Given the description of an element on the screen output the (x, y) to click on. 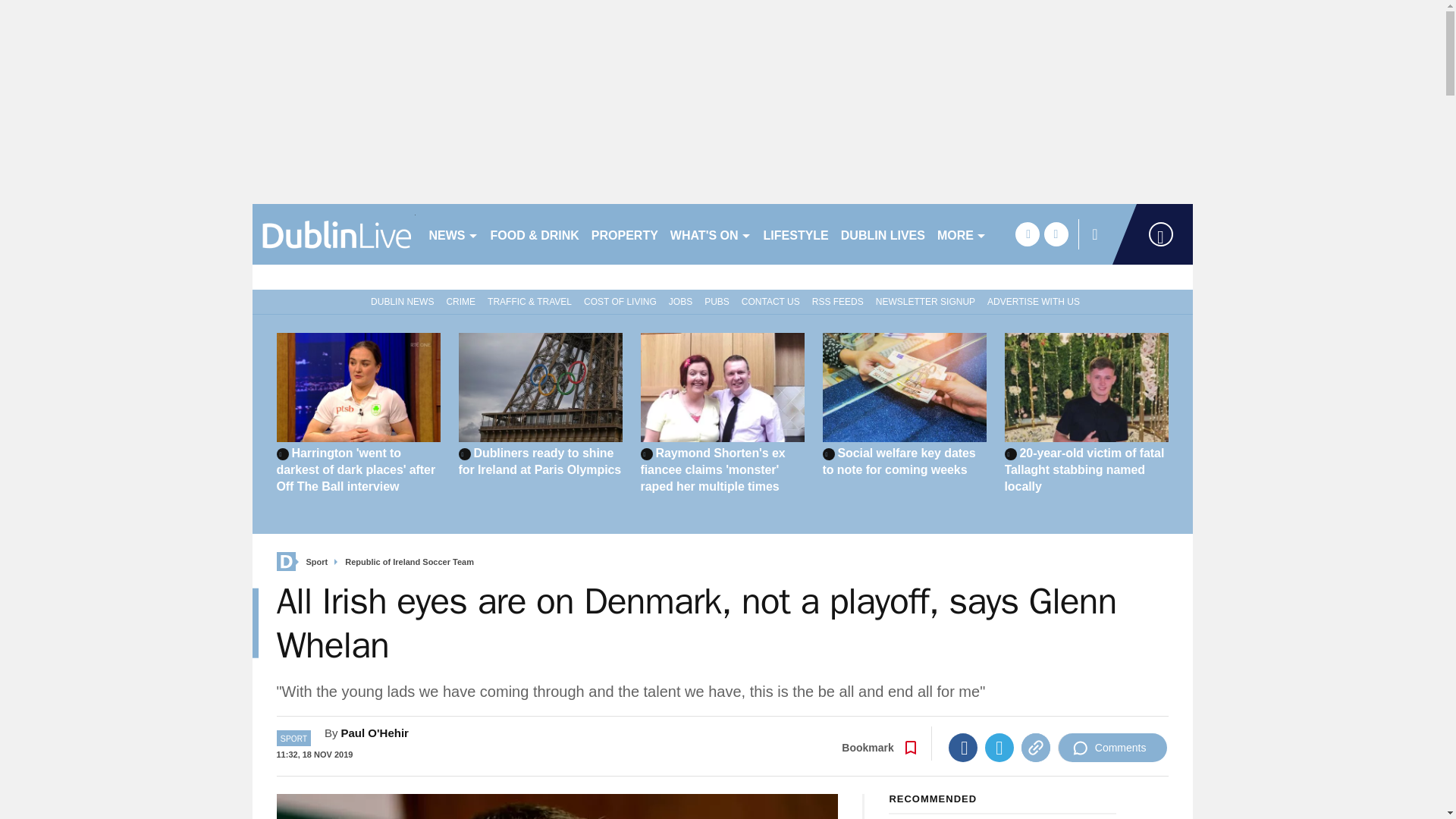
LIFESTYLE (795, 233)
NEWS (453, 233)
WHAT'S ON (710, 233)
Twitter (999, 747)
facebook (1026, 233)
PROPERTY (624, 233)
Facebook (962, 747)
dublinlive (332, 233)
twitter (1055, 233)
DUBLIN LIVES (882, 233)
MORE (961, 233)
Comments (1112, 747)
